Given the description of an element on the screen output the (x, y) to click on. 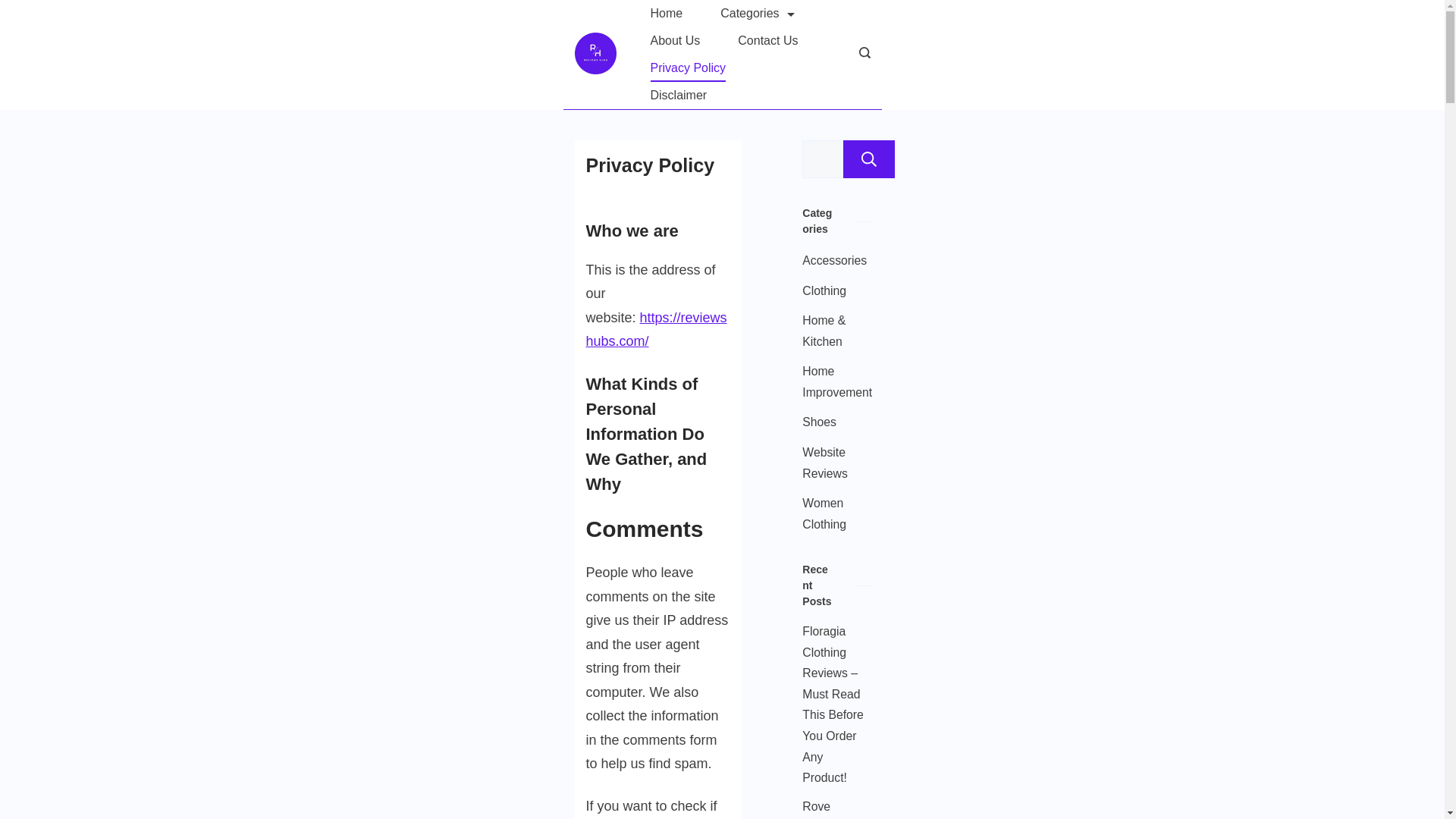
Search (869, 159)
Shoes (818, 422)
Women Clothing (831, 513)
About Us (674, 40)
Contact Us (767, 40)
Accessories (834, 260)
Disclaimer (677, 94)
Clothing (823, 291)
Website Reviews (831, 463)
Home (665, 13)
